Given the description of an element on the screen output the (x, y) to click on. 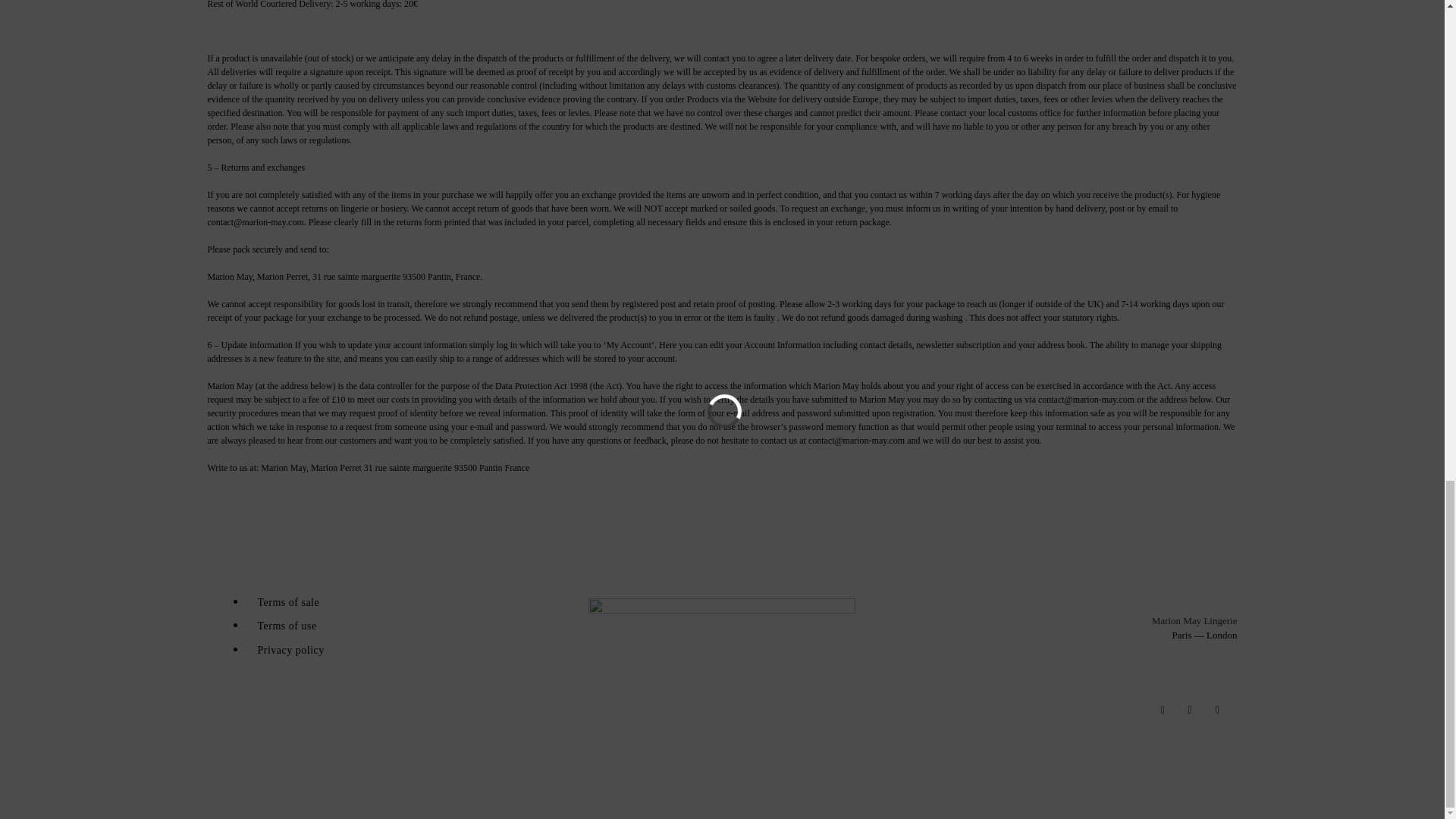
Terms of sale (288, 602)
Privacy policy (284, 649)
Terms of use (286, 625)
